Given the description of an element on the screen output the (x, y) to click on. 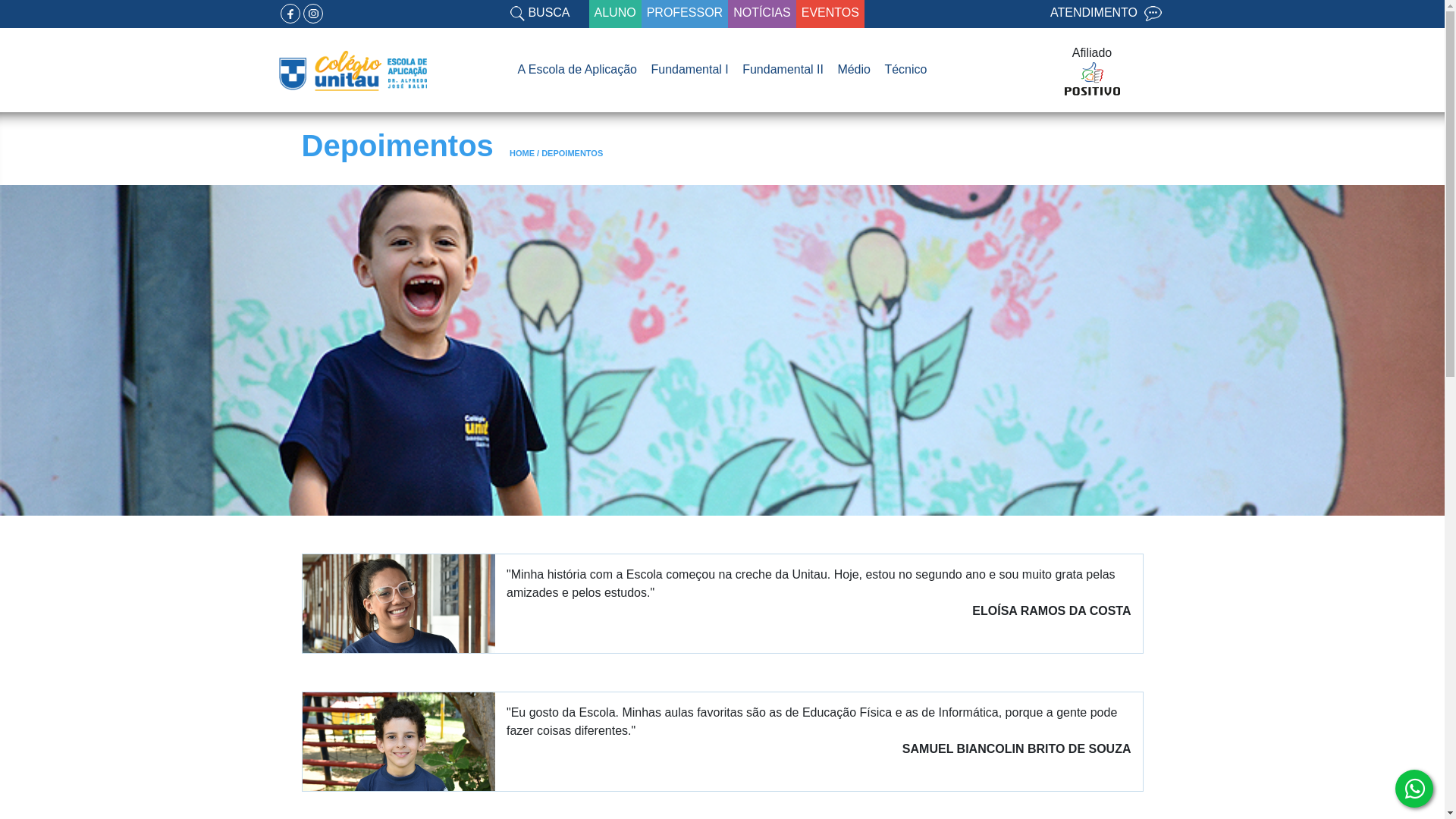
Atendimento via WhatsApp Element type: hover (1414, 788)
EVENTOS Element type: text (830, 14)
Fundamental II Element type: text (782, 68)
Fundamental I Element type: text (689, 68)
BUSCA Element type: text (540, 13)
ATENDIMENTO Element type: text (1105, 13)
ALUNO Element type: text (615, 14)
Instagram Element type: hover (313, 13)
Facebook Element type: hover (290, 13)
HOME Element type: text (521, 152)
PROFESSOR Element type: text (684, 14)
